Given the description of an element on the screen output the (x, y) to click on. 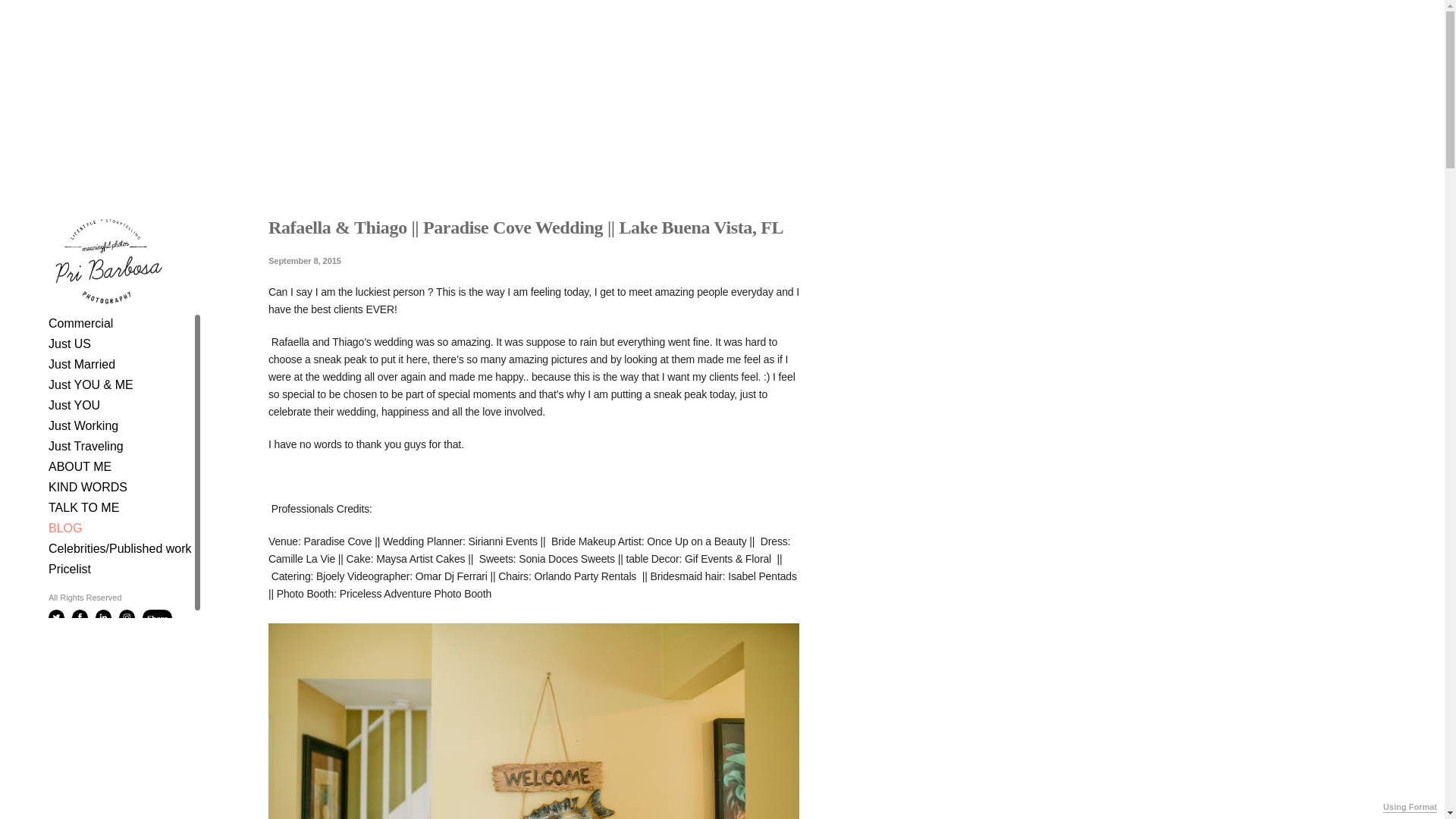
TALK TO ME (83, 507)
LinkedIn (104, 617)
September 8, 2015 (533, 260)
Share (157, 616)
BLOG (64, 528)
Pricelist (69, 569)
Just Working (82, 425)
Facebook (79, 617)
Commercial (80, 323)
Just YOU (74, 405)
